Given the description of an element on the screen output the (x, y) to click on. 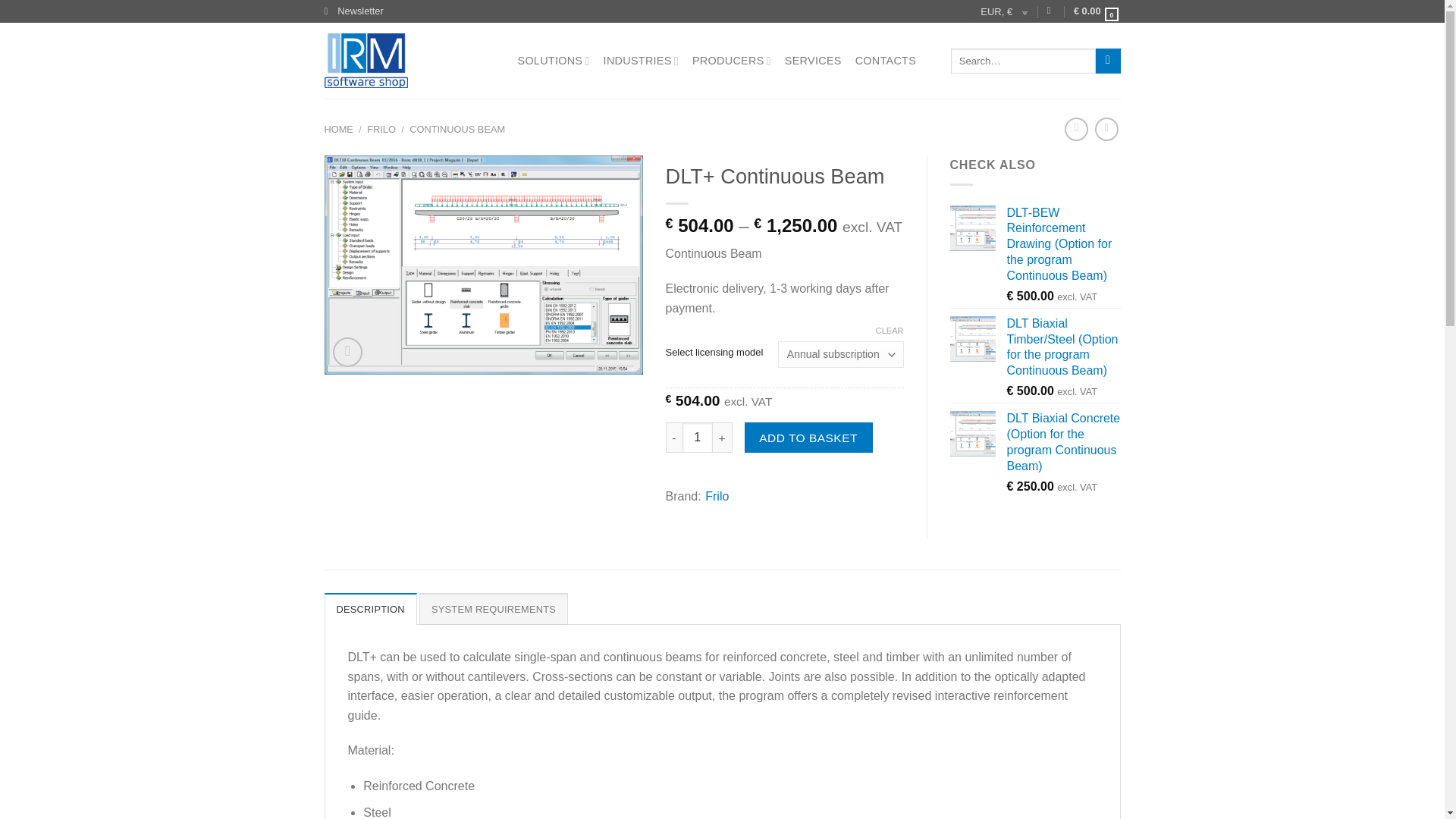
SOLUTIONS (552, 60)
INDUSTRIES (641, 60)
PRODUCERS (732, 60)
Zoom (347, 351)
1 (697, 437)
SERVICES (812, 60)
dlt (483, 264)
Basket (1097, 11)
Newsletter (354, 11)
